Given the description of an element on the screen output the (x, y) to click on. 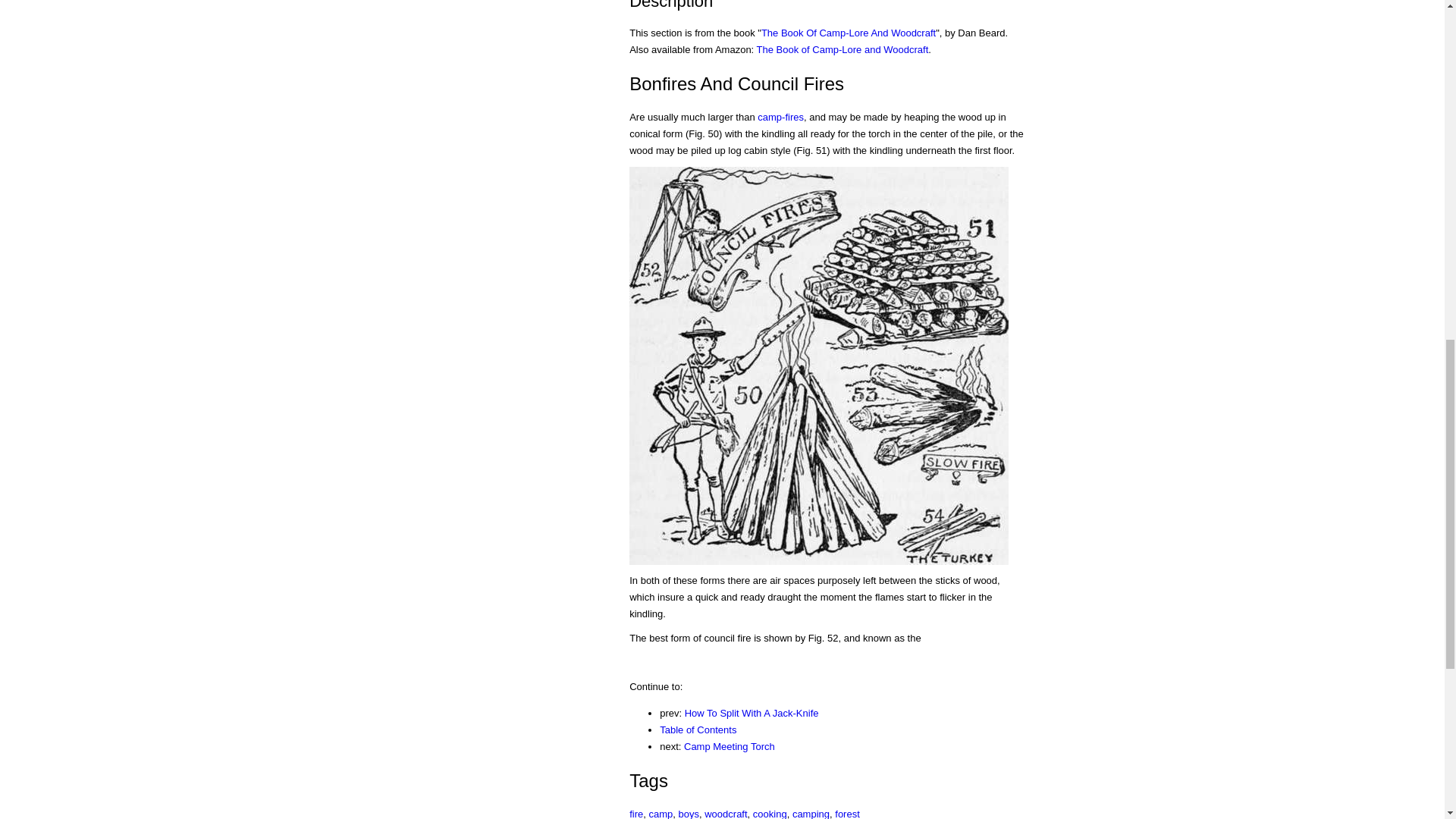
Table of Contents (697, 729)
Camp Meeting Torch (729, 746)
woodcraft (725, 813)
How To Split With A Jack-Knife (751, 713)
fire (635, 813)
The Book of Camp-Lore and Woodcraft (842, 49)
boys (688, 813)
camp (660, 813)
camp-fires (780, 116)
cooking (769, 813)
